Given the description of an element on the screen output the (x, y) to click on. 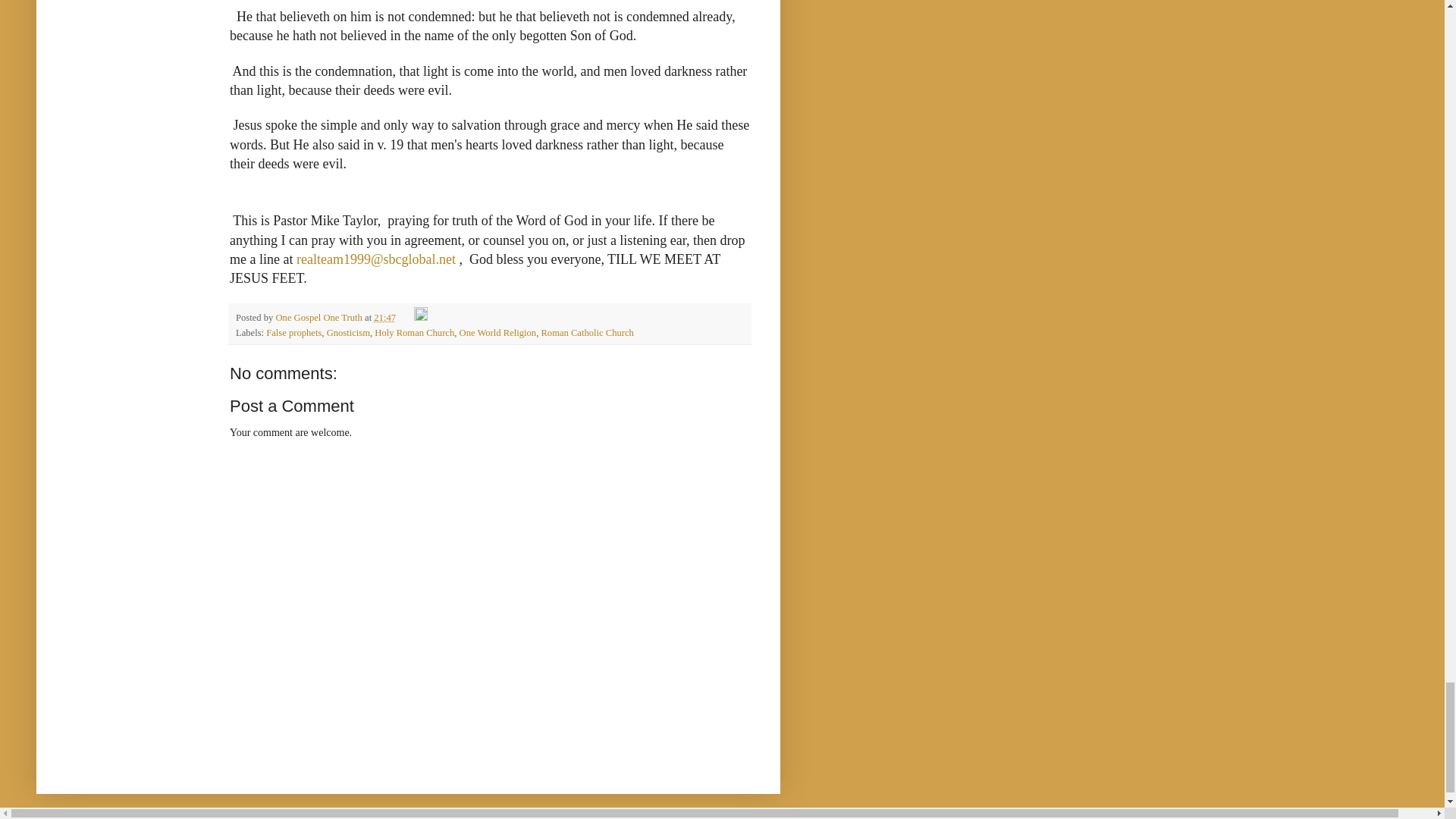
False prophets (293, 332)
Roman Catholic Church (586, 332)
One Gospel One Truth (320, 317)
permanent link (385, 317)
Edit Post (420, 317)
One World Religion (498, 332)
21:47 (385, 317)
Gnosticism (347, 332)
Email Post (405, 317)
Holy Roman Church (414, 332)
